Given the description of an element on the screen output the (x, y) to click on. 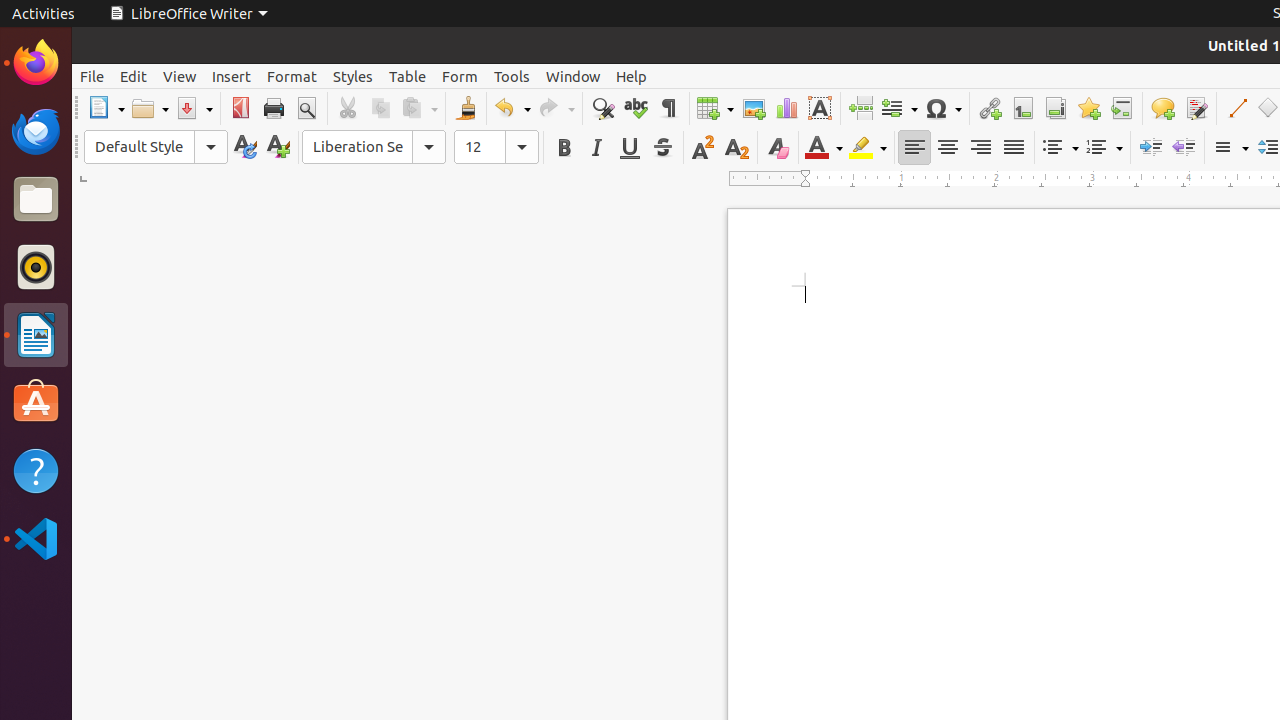
Table Element type: menu (407, 76)
Files Element type: push-button (36, 199)
Paste Element type: push-button (419, 108)
Save Element type: push-button (194, 108)
Underline Element type: push-button (629, 147)
